Given the description of an element on the screen output the (x, y) to click on. 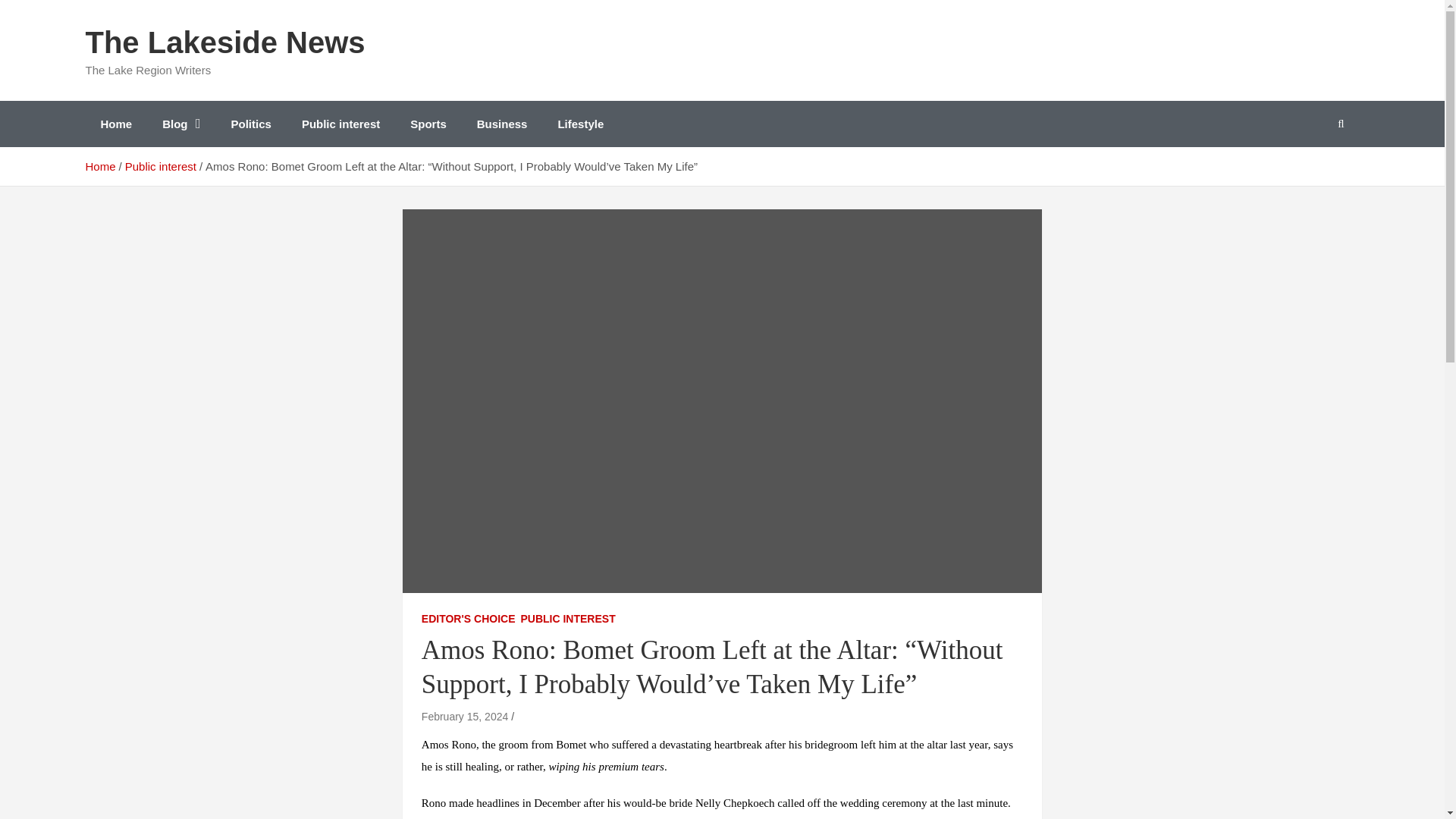
Public interest (340, 123)
Home (115, 123)
Sports (427, 123)
PUBLIC INTEREST (566, 619)
EDITOR'S CHOICE (468, 619)
Politics (250, 123)
Home (99, 165)
The Lakeside News (224, 41)
Blog (181, 123)
Lifestyle (579, 123)
Public interest (160, 165)
February 15, 2024 (465, 716)
Business (502, 123)
